Given the description of an element on the screen output the (x, y) to click on. 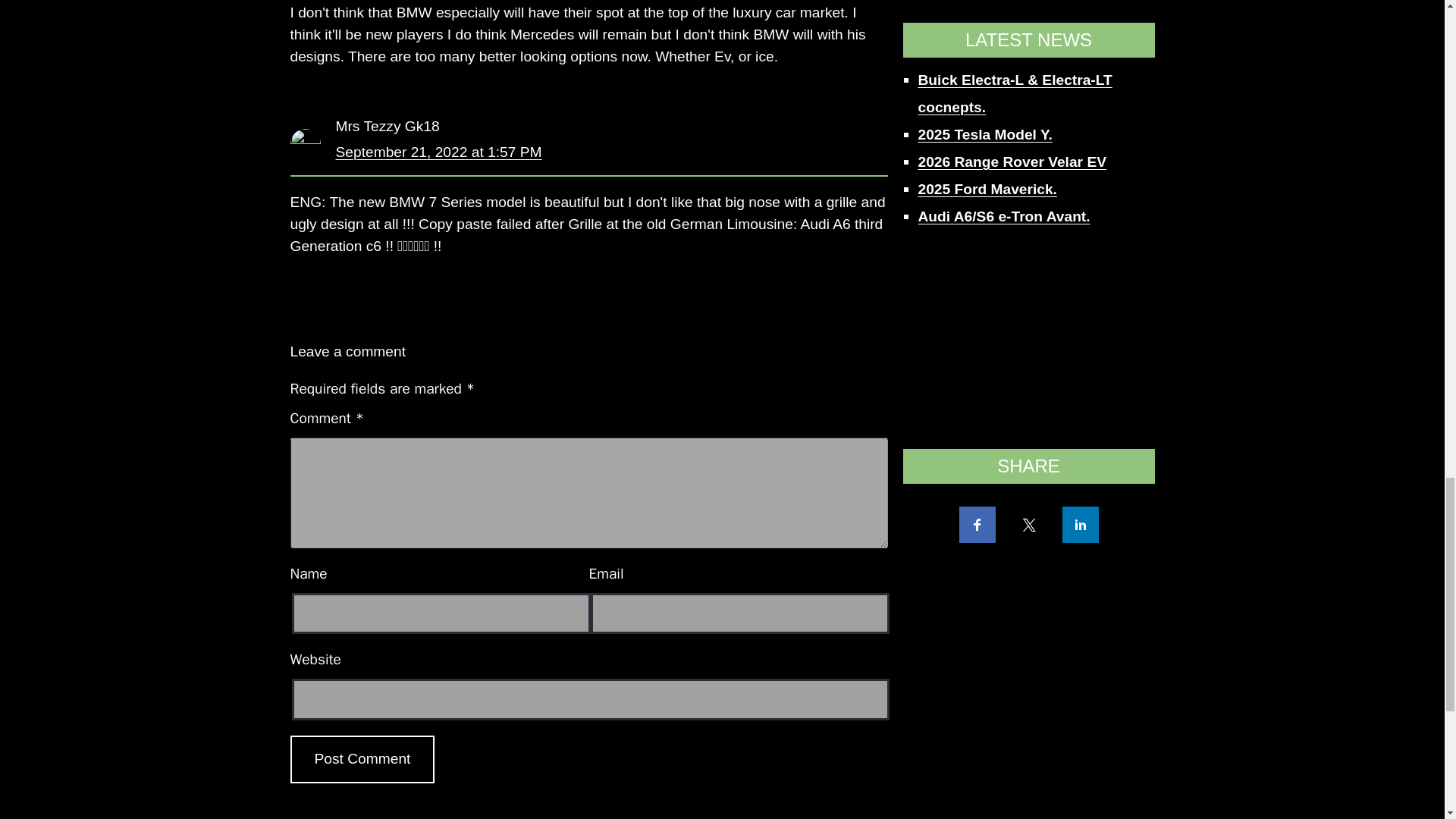
Post Comment (361, 758)
September 21, 2022 at 1:57 PM (437, 151)
Post Comment (361, 758)
